Given the description of an element on the screen output the (x, y) to click on. 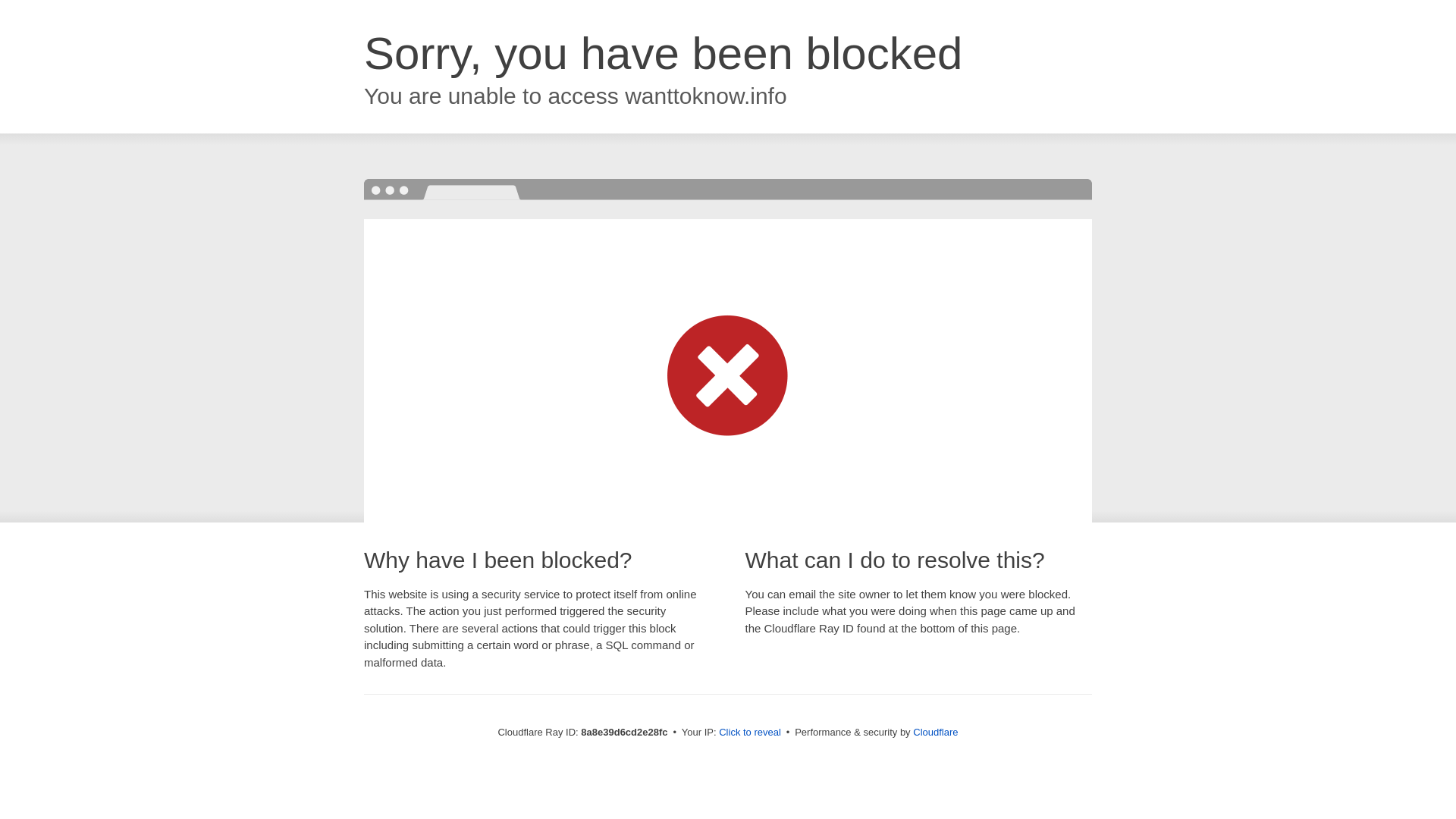
Cloudflare (935, 731)
Click to reveal (749, 732)
